Given the description of an element on the screen output the (x, y) to click on. 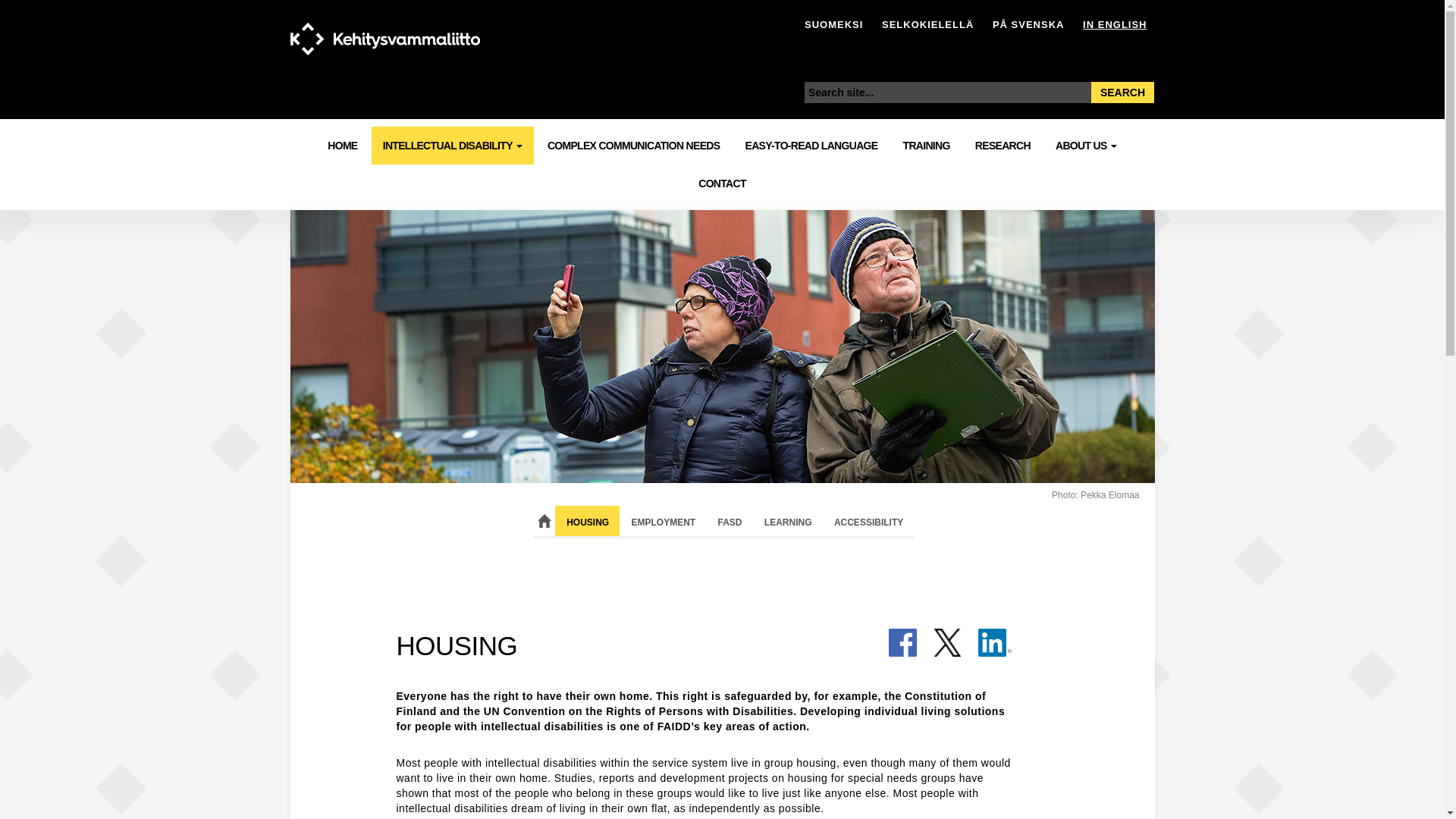
EASY-TO-READ LANGUAGE (811, 145)
suomeksi (834, 24)
CONTACT (722, 183)
Share in Facebook (902, 654)
Share in LinkedIn (994, 654)
EMPLOYMENT (663, 521)
SUOMEKSI (834, 24)
ACCESSIBILITY (868, 521)
INTELLECTUAL DISABILITY (452, 145)
LEARNING (788, 521)
RESEARCH (1002, 145)
In English (1115, 24)
FASD (730, 521)
Search (1122, 92)
HOME (341, 145)
